Given the description of an element on the screen output the (x, y) to click on. 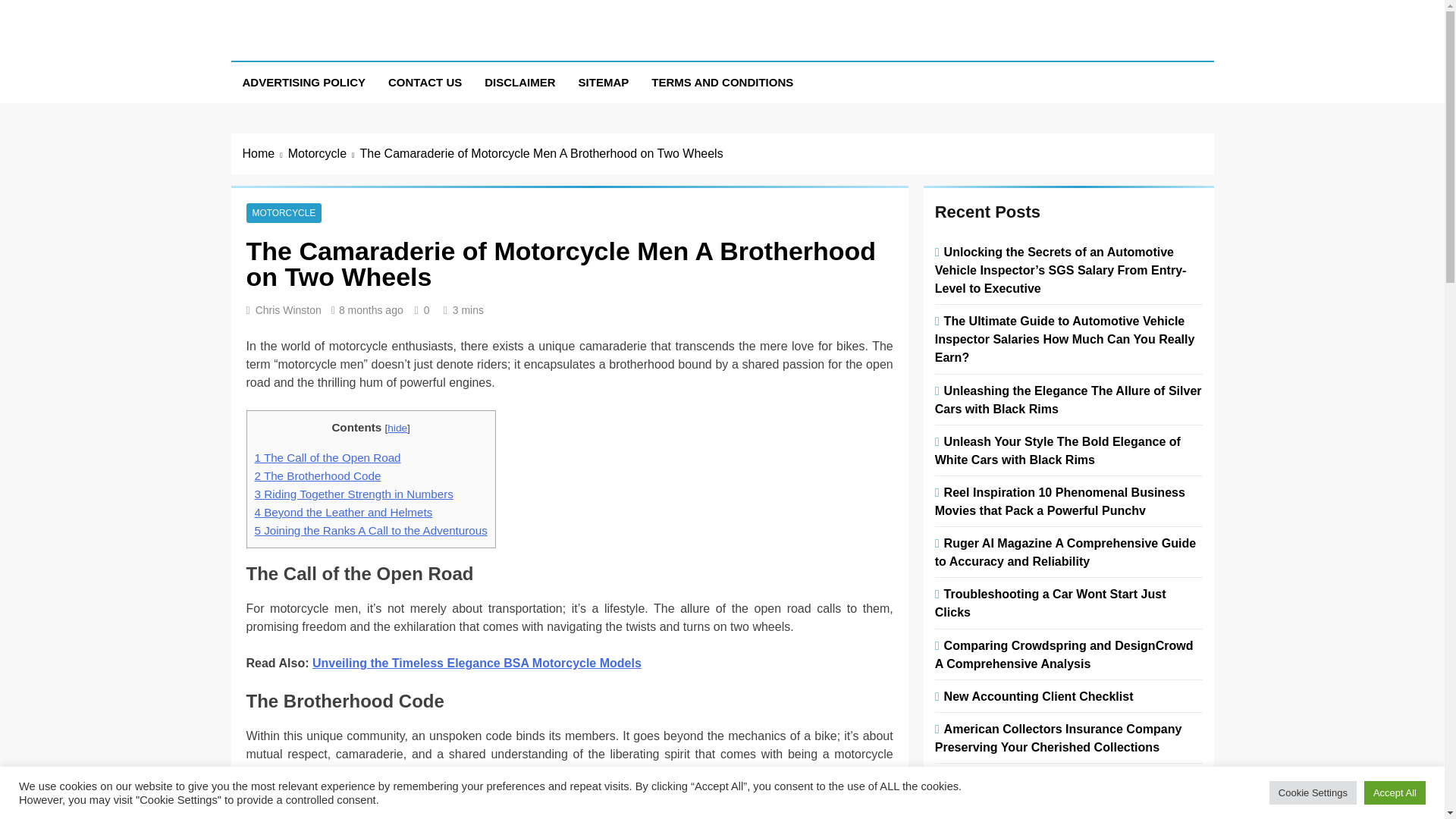
4 Beyond the Leather and Helmets (343, 512)
DISCLAIMER (519, 82)
SITEMAP (603, 82)
Chris Winston (288, 309)
Motorcycle (323, 153)
hide (397, 428)
Home (265, 153)
1 The Call of the Open Road (327, 457)
MOTORCYCLE (283, 213)
